Given the description of an element on the screen output the (x, y) to click on. 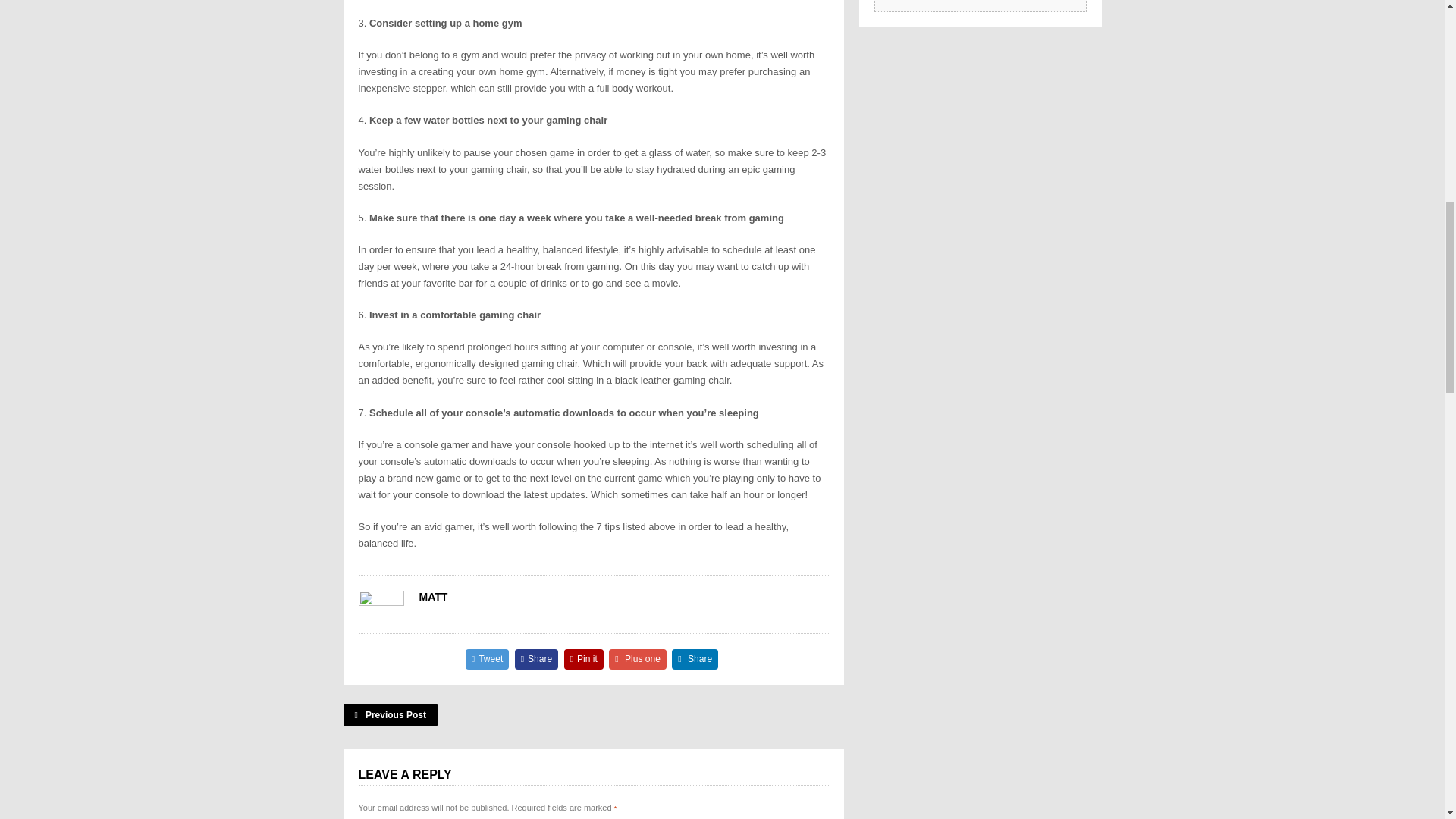
MATT (432, 596)
Posts by Matt (432, 596)
Share on Twitter (487, 659)
Share on LinkedIn (694, 659)
Share on Pinterest (584, 659)
Share on Facebook (537, 659)
Tweet (487, 659)
